Given the description of an element on the screen output the (x, y) to click on. 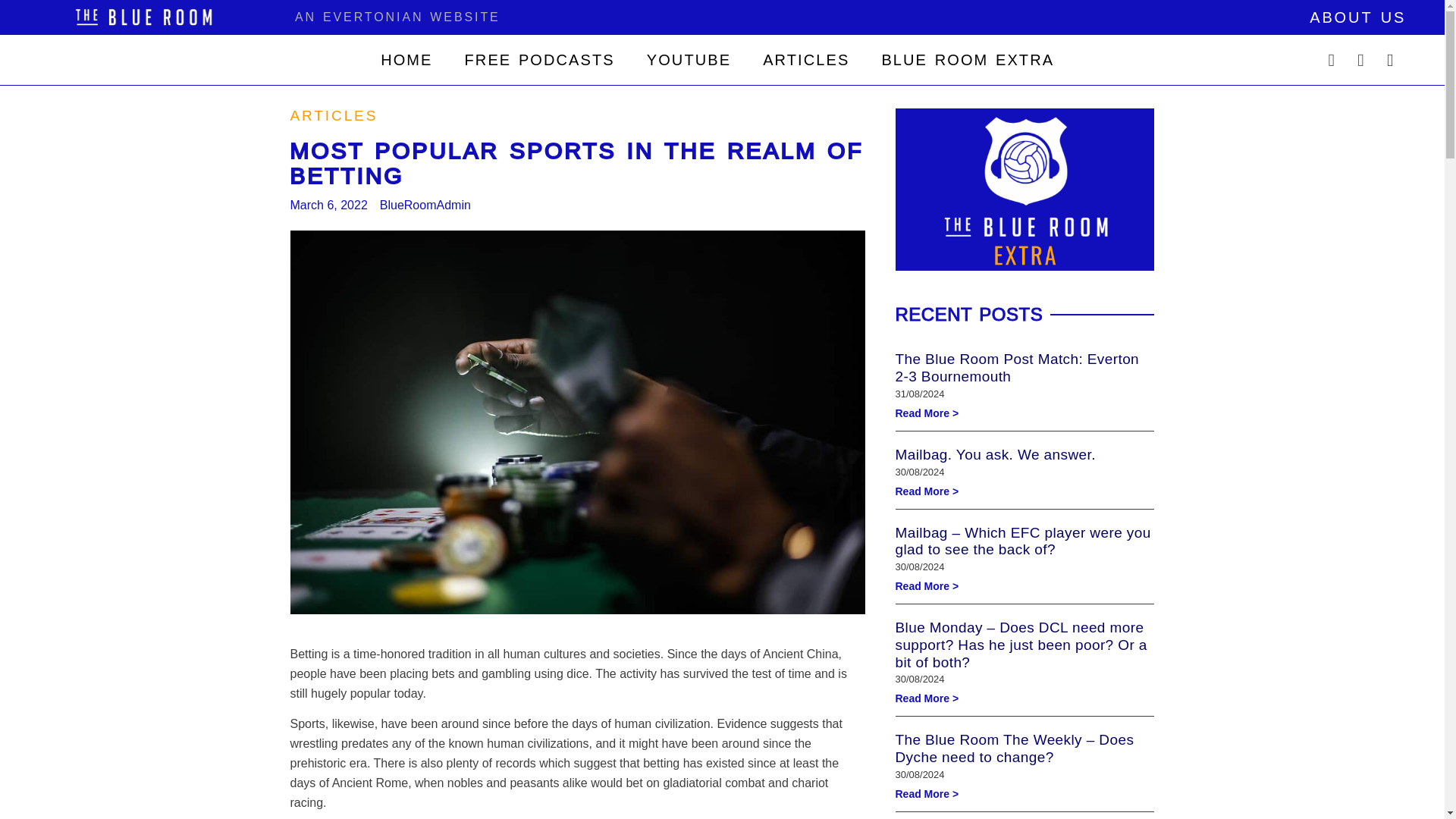
FREE PODCASTS (539, 59)
HOME (406, 59)
BLUE ROOM EXTRA (967, 59)
ARTICLES (805, 59)
ABOUT US (1358, 17)
March 6, 2022 (327, 205)
ARTICLES (333, 115)
YOUTUBE (688, 59)
BlueRoomAdmin (425, 205)
